Given the description of an element on the screen output the (x, y) to click on. 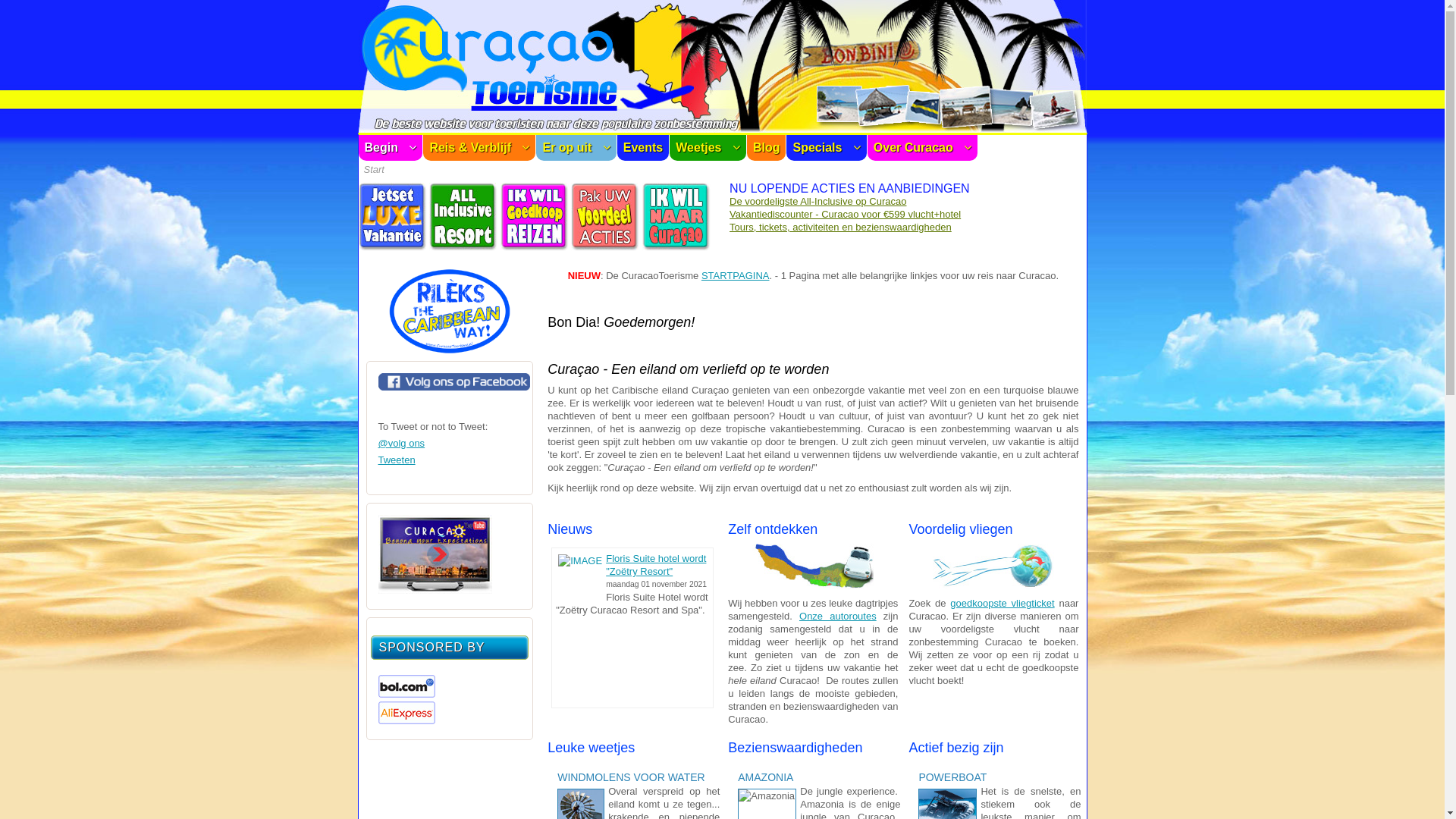
STARTPAGINA Element type: text (735, 275)
@volg ons Element type: text (400, 442)
Tweeten Element type: text (395, 459)
AMAZONIA Element type: text (767, 777)
Aanbieding Curacao Element type: hover (605, 247)
Specials Element type: text (826, 147)
Reis & Verblijf Element type: text (479, 147)
All Inclusive hotels in Curacao Element type: hover (463, 247)
Curacao voor jetsetters Element type: hover (391, 247)
Volg ons op Facebook Element type: hover (453, 386)
Weetjes Element type: text (707, 147)
Onze autoroutes Element type: text (837, 615)
Begin Element type: text (389, 147)
Goedkoop naar Curacao Element type: hover (534, 247)
Events Element type: text (642, 147)
Reizen naar Curacao Element type: hover (676, 247)
Direct naar website AliExpress Element type: hover (405, 720)
Blog Element type: text (766, 147)
Er op uit Element type: text (575, 147)
WINDMOLENS VOOR WATER Element type: text (633, 777)
De voordeligste All-Inclusive op Curacao Element type: text (817, 201)
POWERBOAT Element type: text (954, 777)
Over Curacao Element type: text (922, 147)
Tours, tickets, activiteiten en bezienswaardigheden Element type: text (840, 226)
goedkoopste vliegticket Element type: text (1002, 602)
Direct naar de website van BOL.com Element type: hover (405, 693)
